Given the description of an element on the screen output the (x, y) to click on. 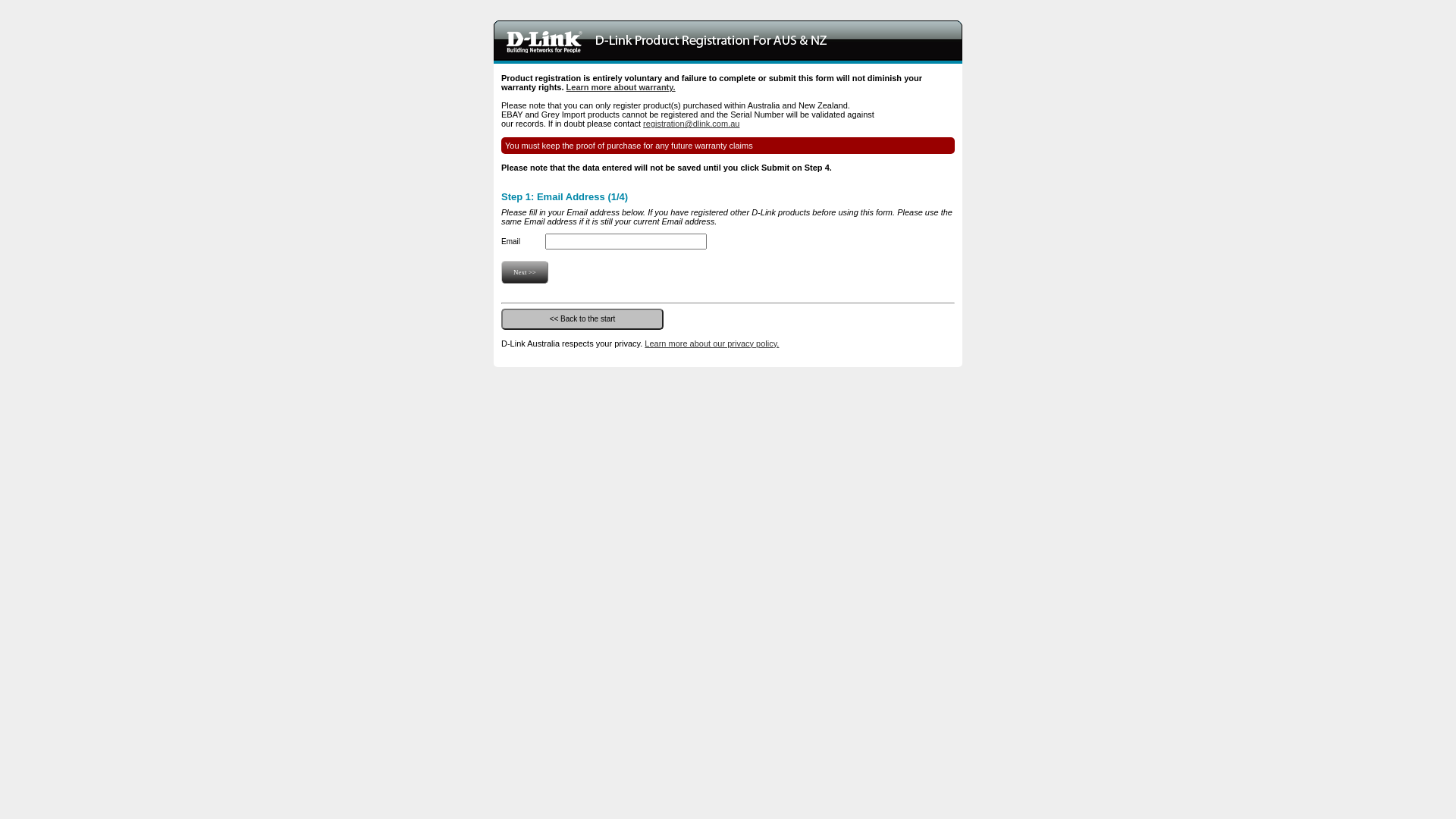
<< Back to the start Element type: text (582, 318)
Please enter your current valid Email address Element type: hover (625, 241)
Learn more about our privacy policy. Element type: text (711, 342)
Learn more about warranty. Element type: text (620, 86)
Next >> Element type: text (524, 271)
registration@dlink.com.au Element type: text (691, 123)
